Given the description of an element on the screen output the (x, y) to click on. 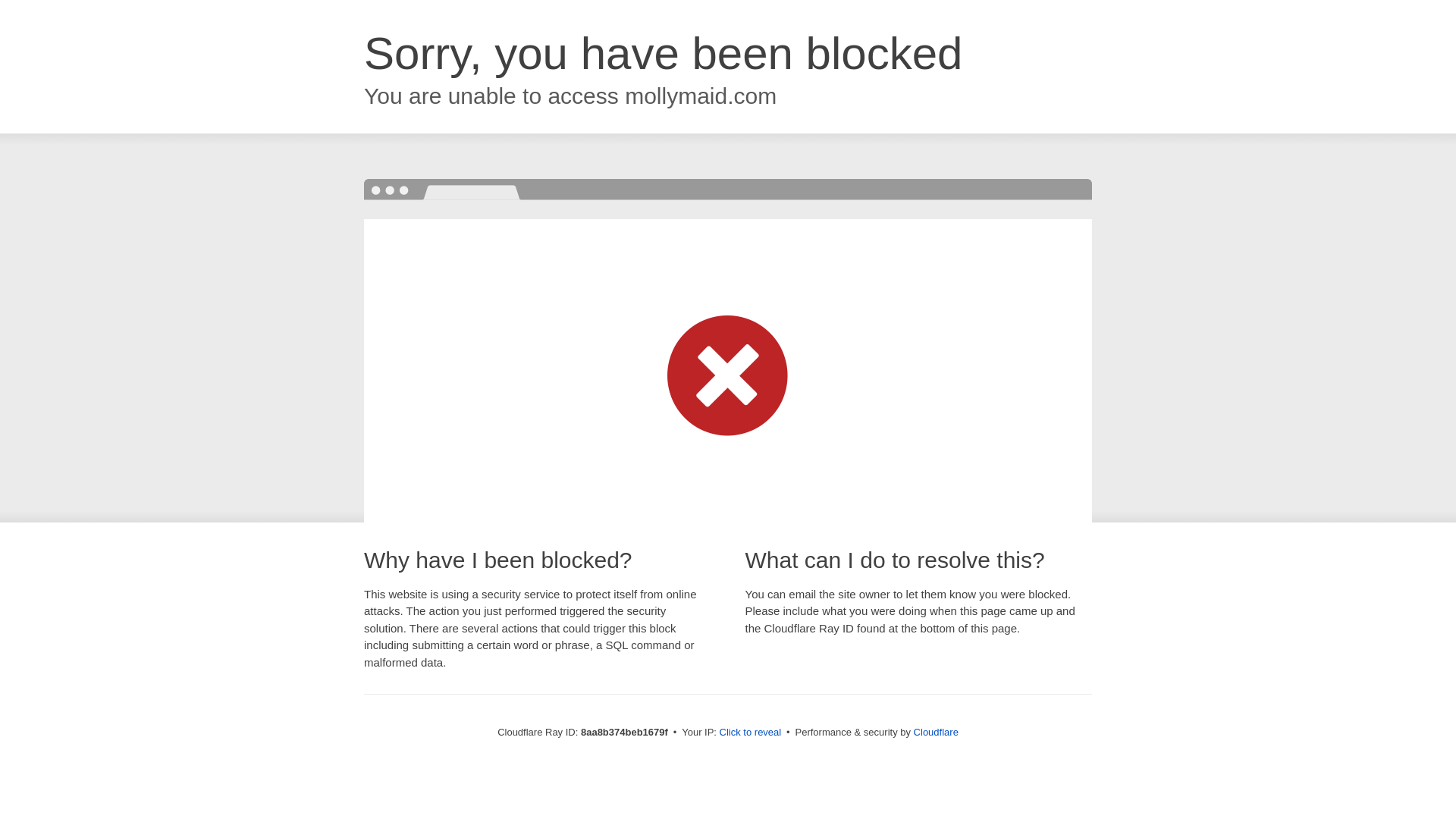
Click to reveal (750, 732)
Cloudflare (936, 731)
